Given the description of an element on the screen output the (x, y) to click on. 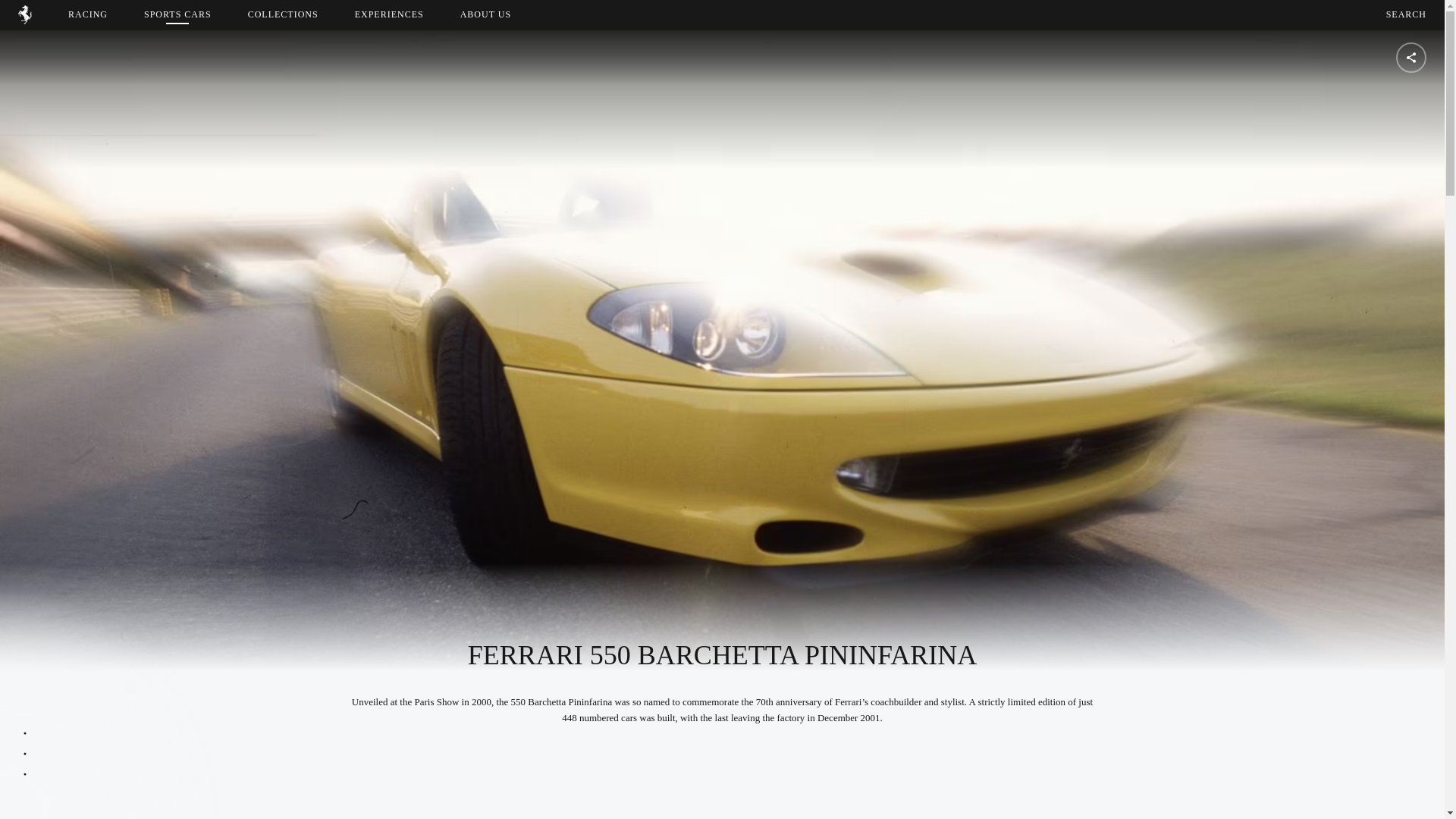
EXPERIENCES (389, 14)
SPORTS CARS (177, 14)
RACING (499, 14)
ABOUT US (87, 14)
Ferrari logo (485, 14)
SEARCH (24, 19)
COLLECTIONS (1406, 14)
